Given the description of an element on the screen output the (x, y) to click on. 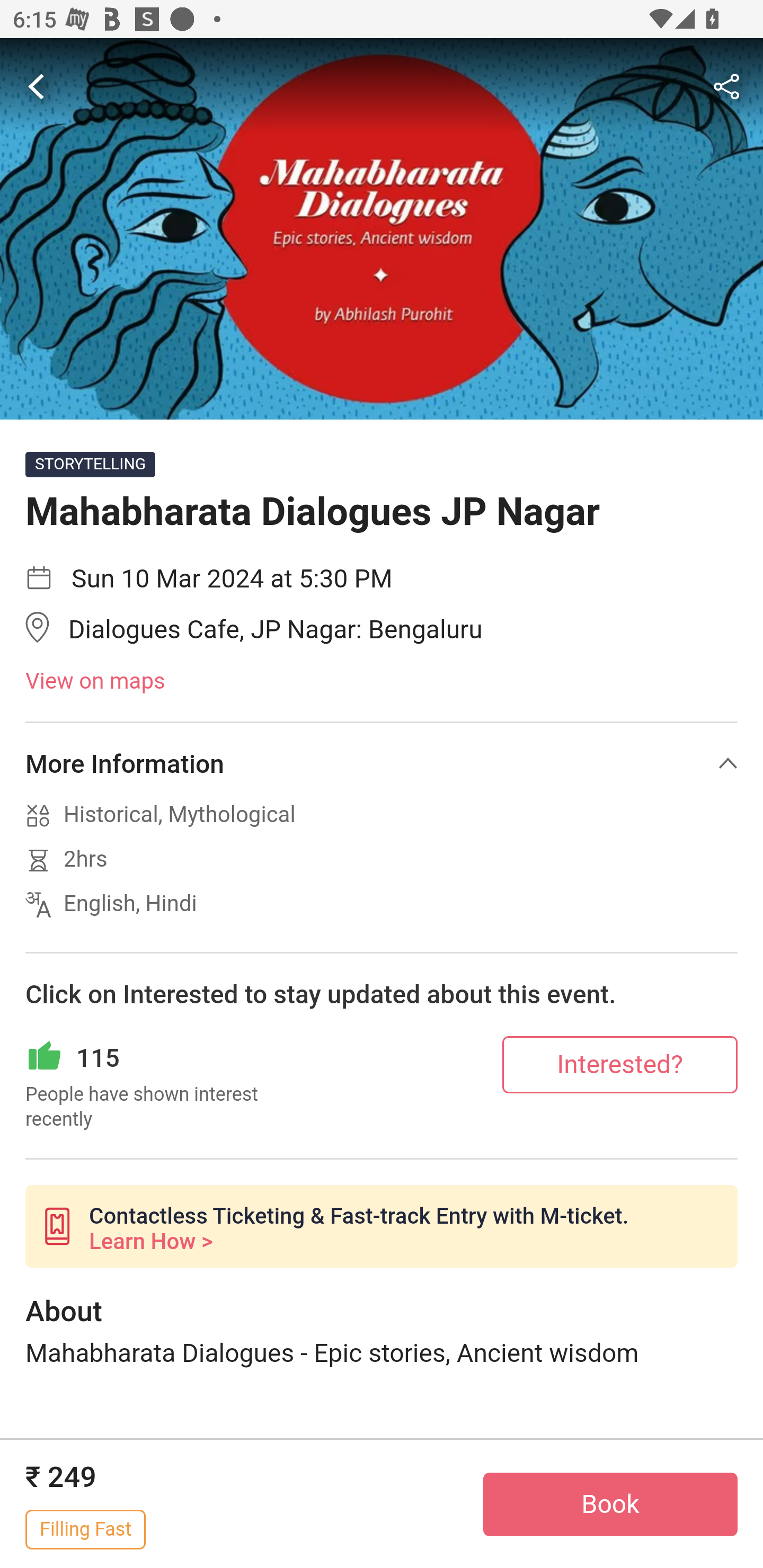
View on maps (381, 681)
More Information (381, 763)
Interested? (619, 1063)
Learn How > (150, 1241)
Book (609, 1504)
